Given the description of an element on the screen output the (x, y) to click on. 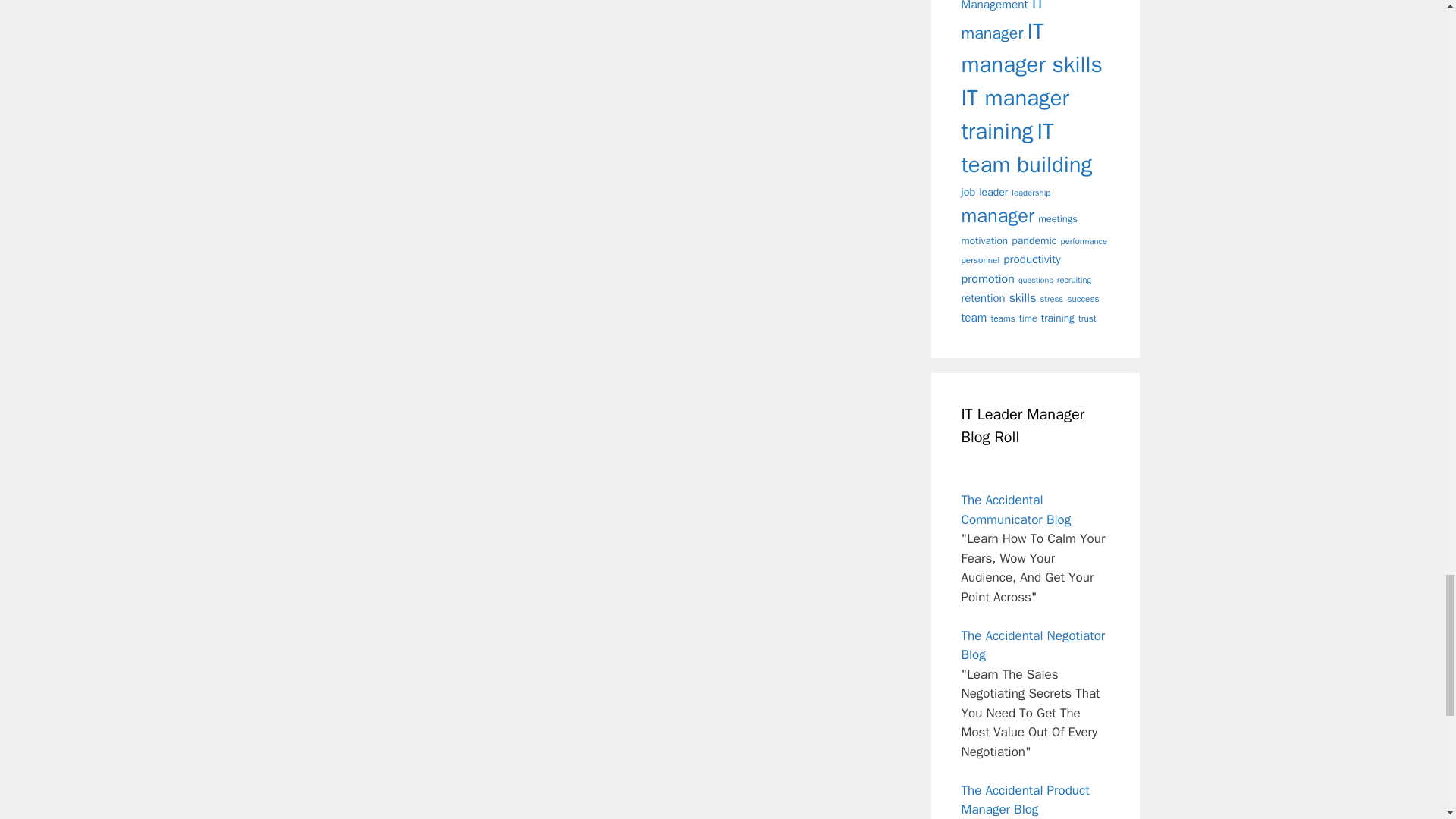
The Accidental Product Manager Blog (1024, 800)
The Accidental Negotiator Blog (1032, 645)
The Accidental Communicator Blog (1015, 509)
